Given the description of an element on the screen output the (x, y) to click on. 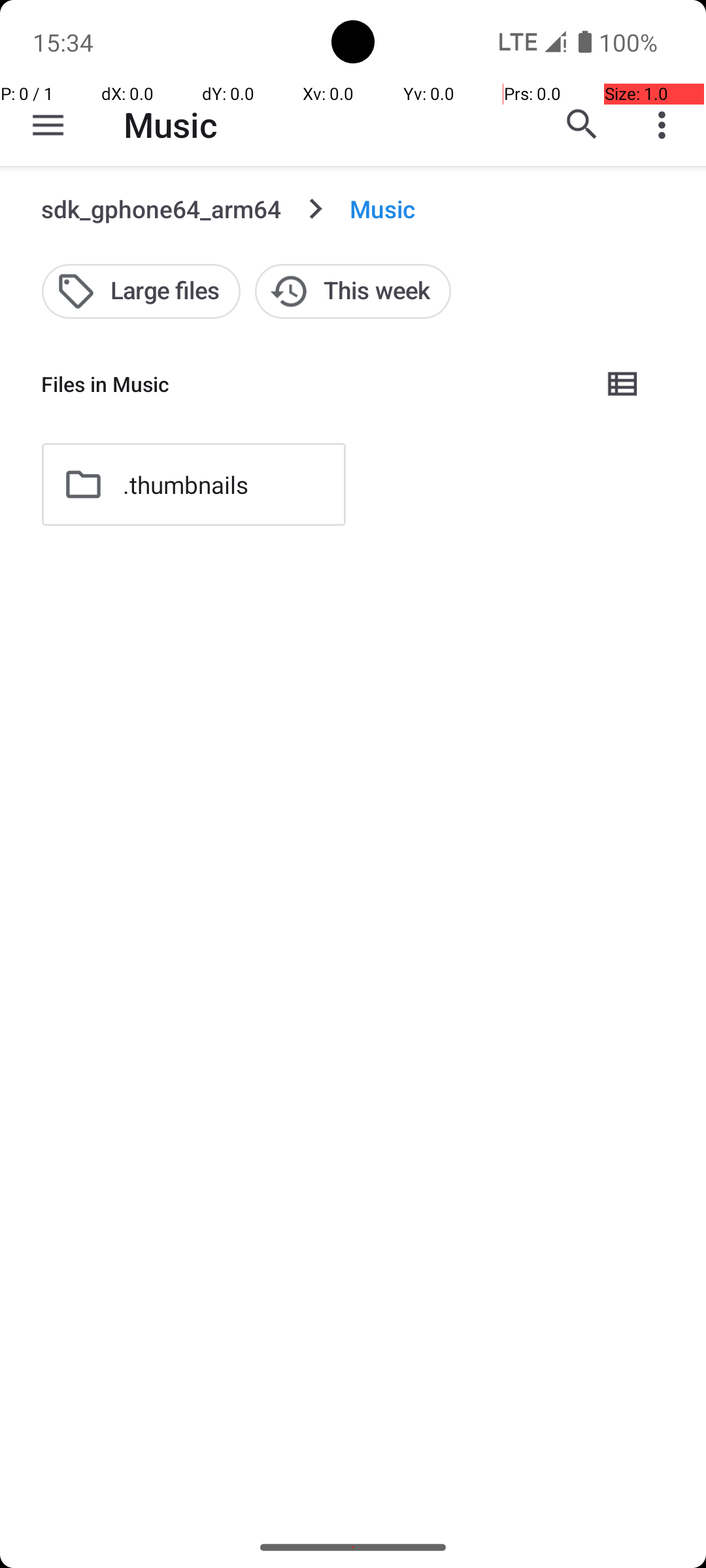
Files in Music Element type: android.widget.TextView (311, 383)
.thumbnails Element type: android.widget.TextView (185, 484)
